Given the description of an element on the screen output the (x, y) to click on. 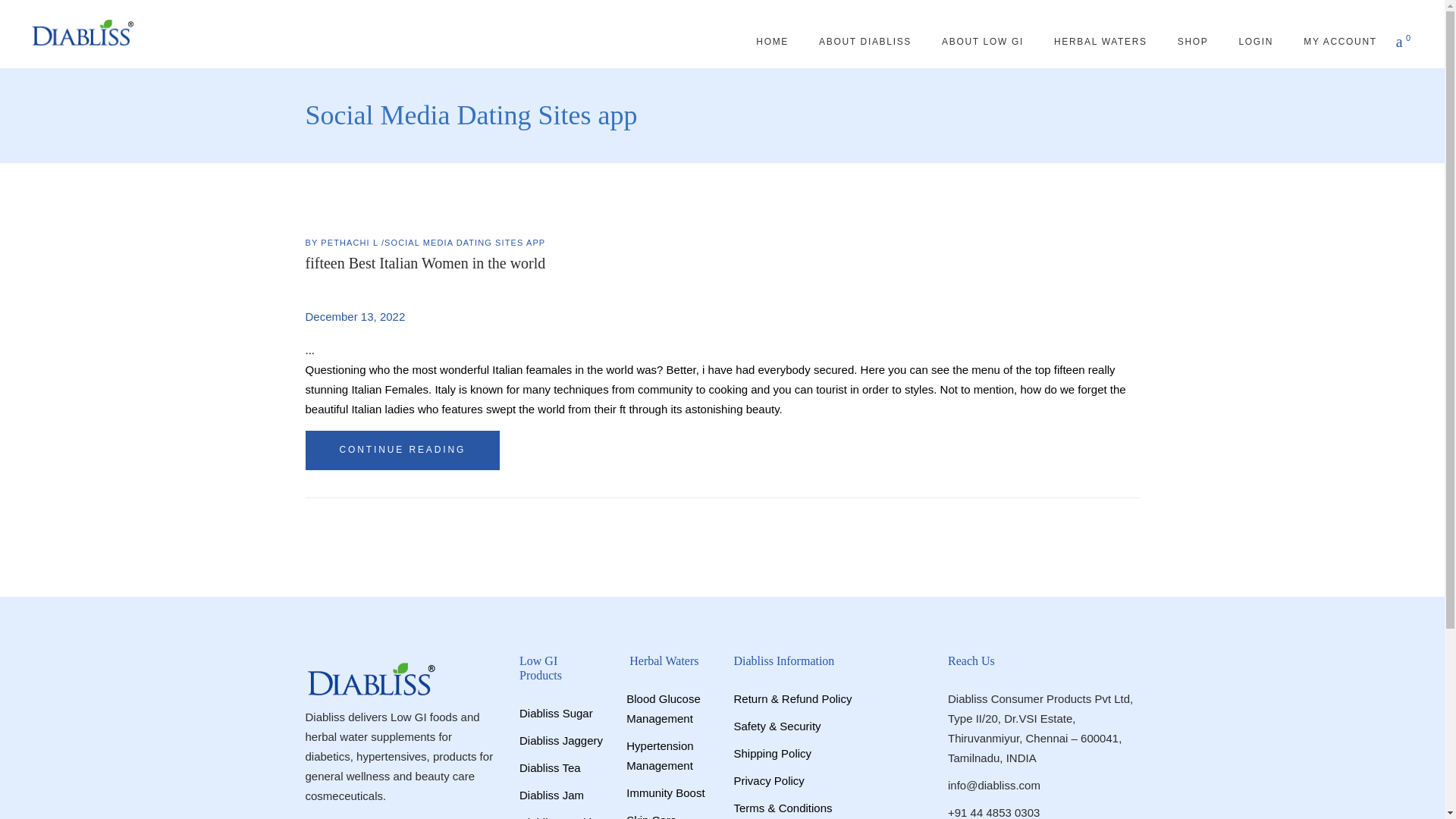
LOGIN (1255, 41)
MY ACCOUNT (1339, 41)
SHOP (1192, 41)
ABOUT DIABLISS (864, 41)
ABOUT LOW GI (982, 41)
HOME (772, 41)
fifteen Best Italian Women in the world (424, 262)
HERBAL WATERS (1100, 41)
